Given the description of an element on the screen output the (x, y) to click on. 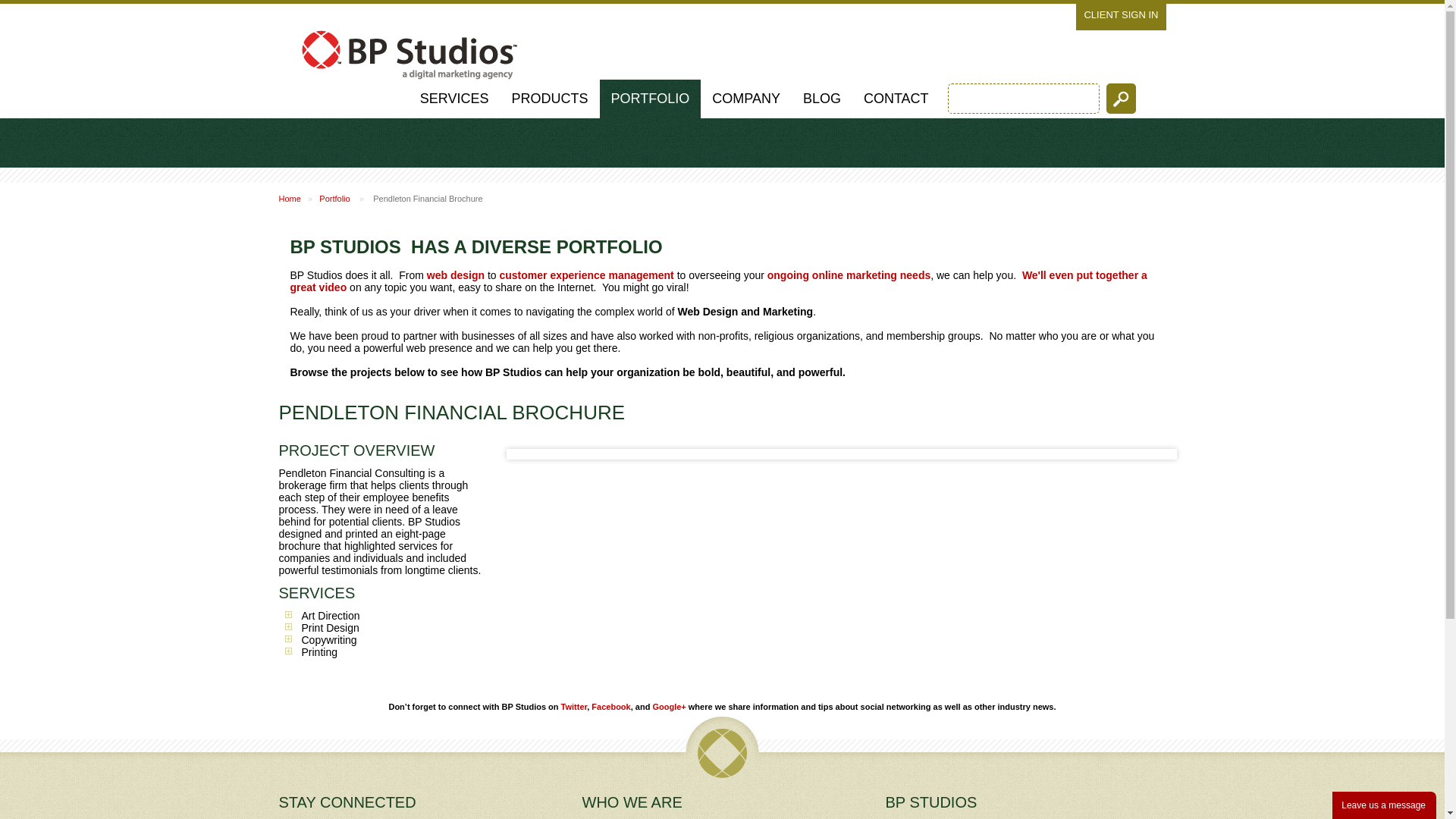
customer experience management (585, 275)
COMPANY (746, 98)
Portfolio (650, 98)
We'll even put together a great video (718, 281)
Home (290, 198)
PORTFOLIO (650, 98)
BP Studios (407, 49)
PRODUCTS (549, 98)
Products (549, 98)
CLIENT SIGN IN (1120, 14)
Company (746, 98)
Portfolio (333, 198)
BLOG (821, 98)
web design (455, 275)
SERVICES (454, 98)
